Given the description of an element on the screen output the (x, y) to click on. 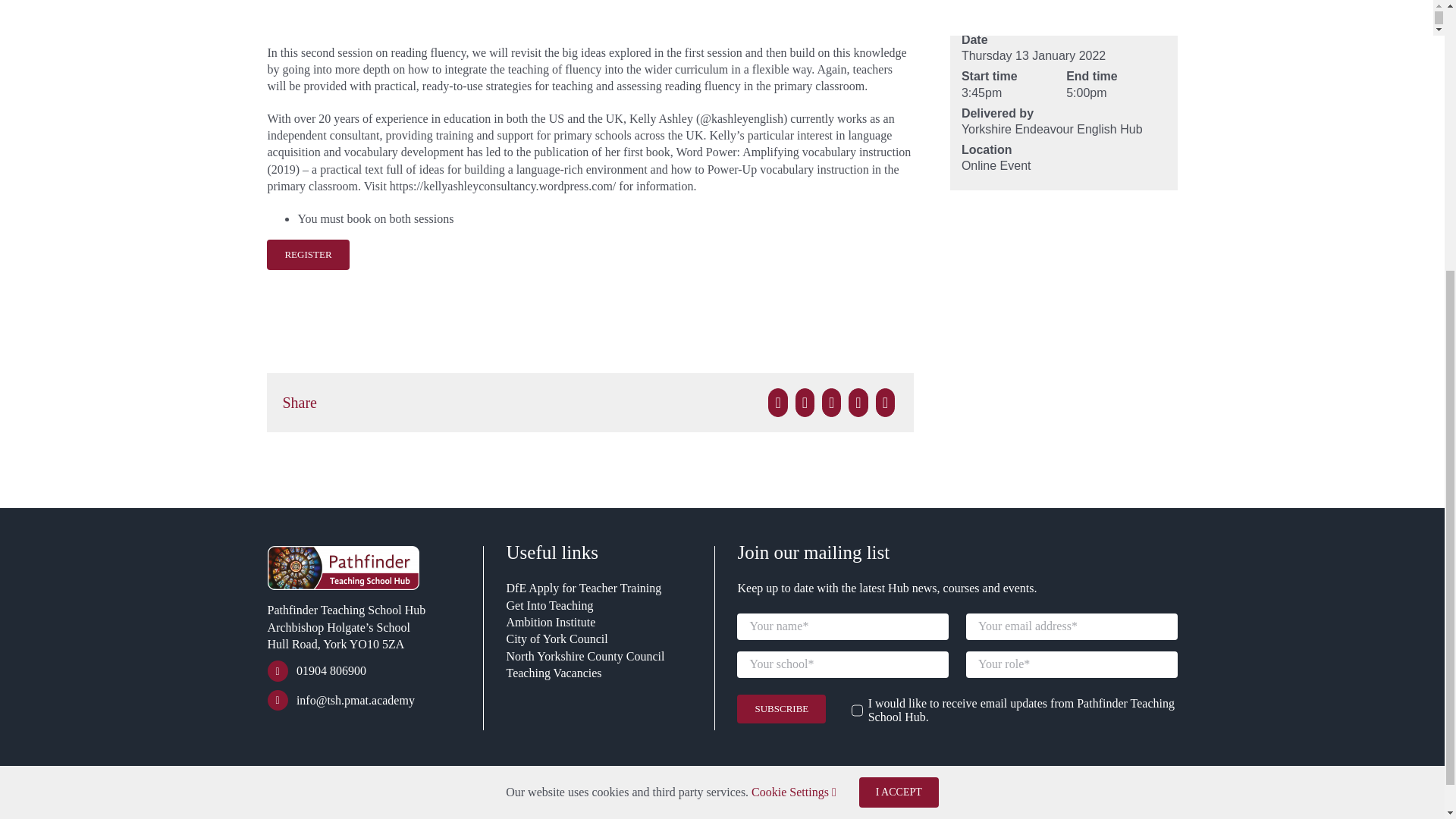
Facebook (777, 402)
Email (885, 402)
Twitter (805, 402)
WhatsApp (857, 402)
LinkedIn (831, 402)
